Given the description of an element on the screen output the (x, y) to click on. 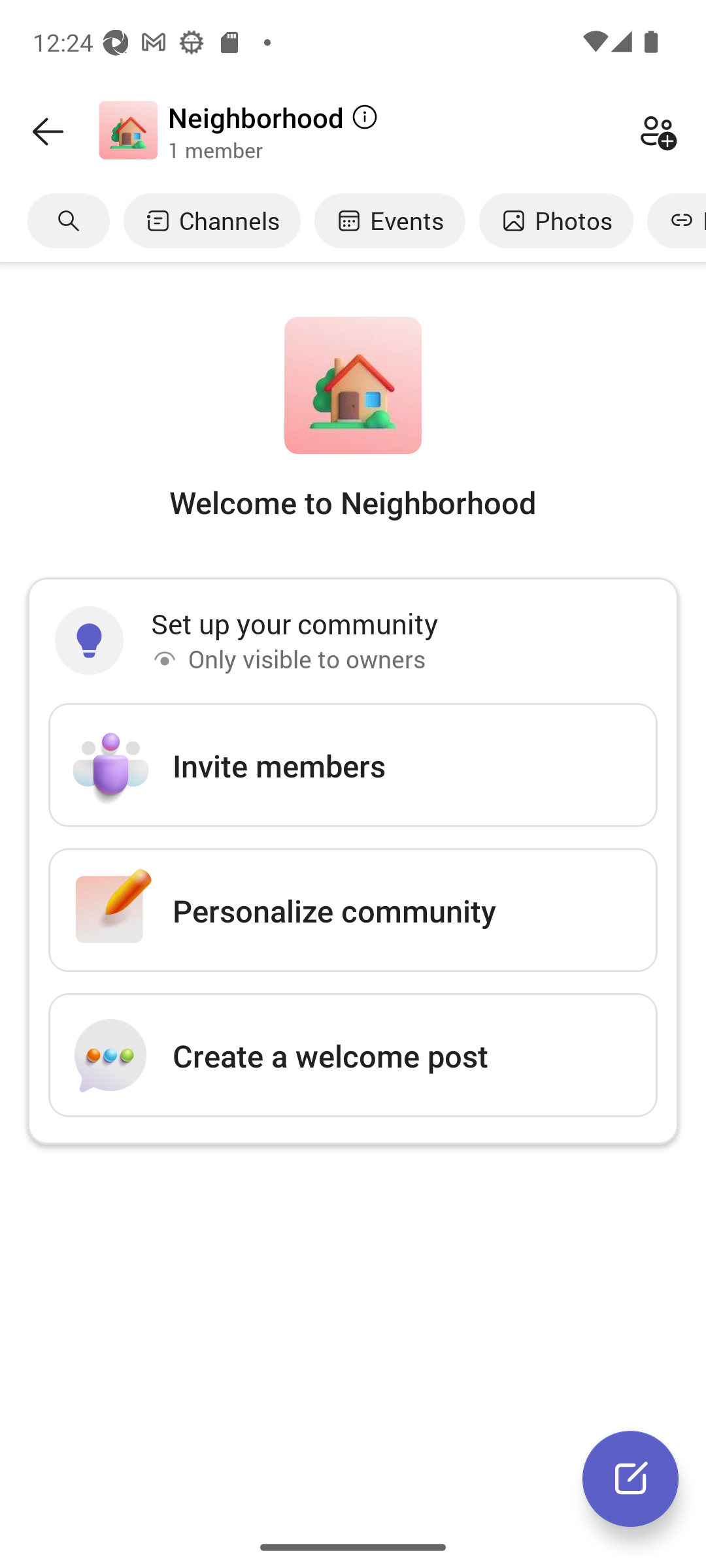
Back (47, 131)
Neighborhood 1 member (395, 131)
Add members (657, 131)
Search tab, 1 of 6 (68, 219)
Channels tab, 2 of 6 Channels (211, 219)
Events tab, 3 of 6 Events (389, 219)
Photos tab, 4 of 6 Photos (556, 219)
Invite members (352, 764)
Personalize community (352, 910)
Create a welcome post (352, 1054)
New conversation (630, 1478)
